Given the description of an element on the screen output the (x, y) to click on. 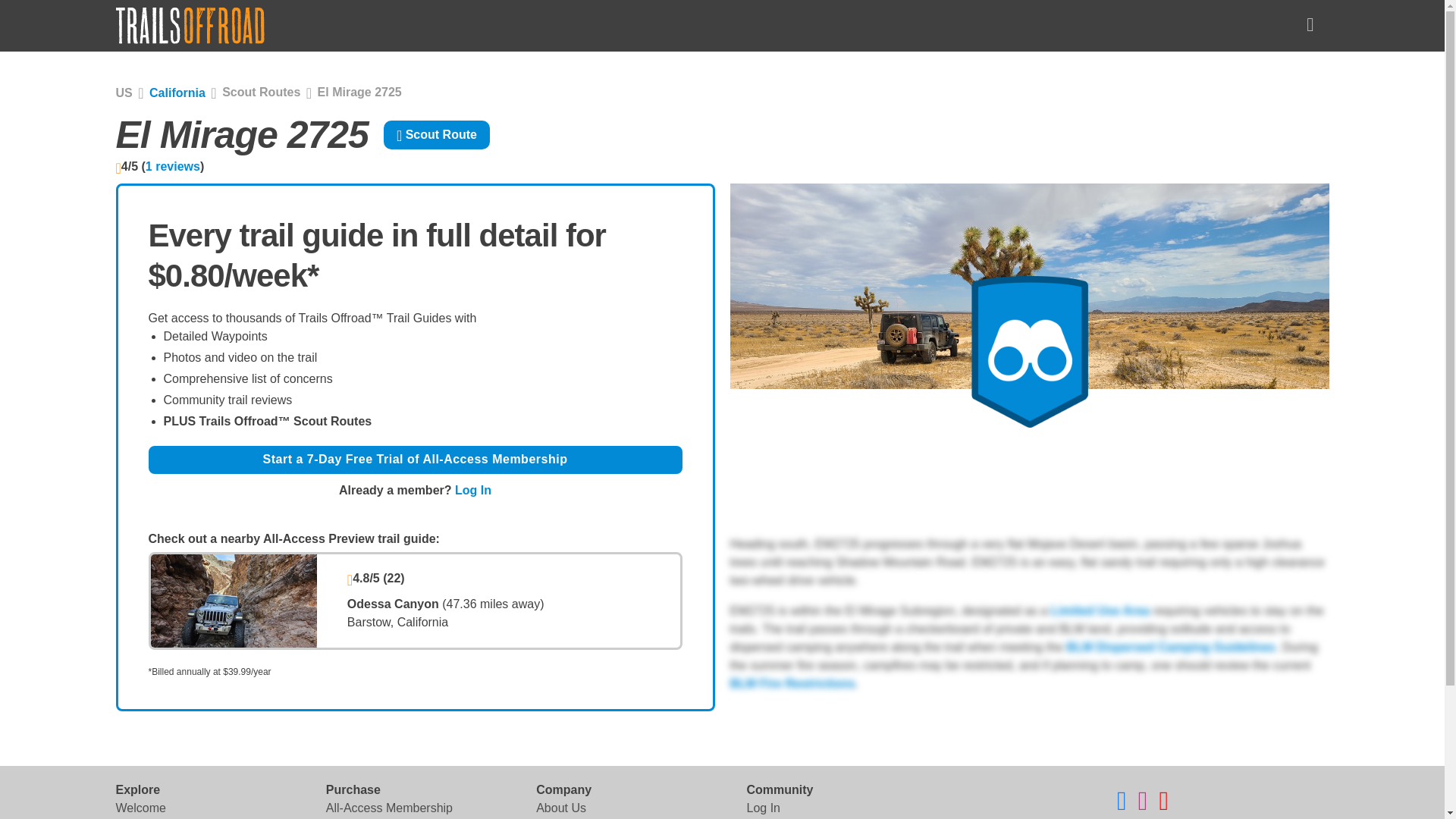
1 reviews (172, 165)
Log In (761, 808)
About Us (560, 808)
Limited Use Area (1100, 610)
California (177, 92)
Log In (473, 490)
Start a 7-Day Free Trial of All-Access Membership (415, 459)
BLM Fire Restrictions (791, 683)
Welcome (140, 808)
BLM Dispersed Camping Guidelines (1168, 646)
